Given the description of an element on the screen output the (x, y) to click on. 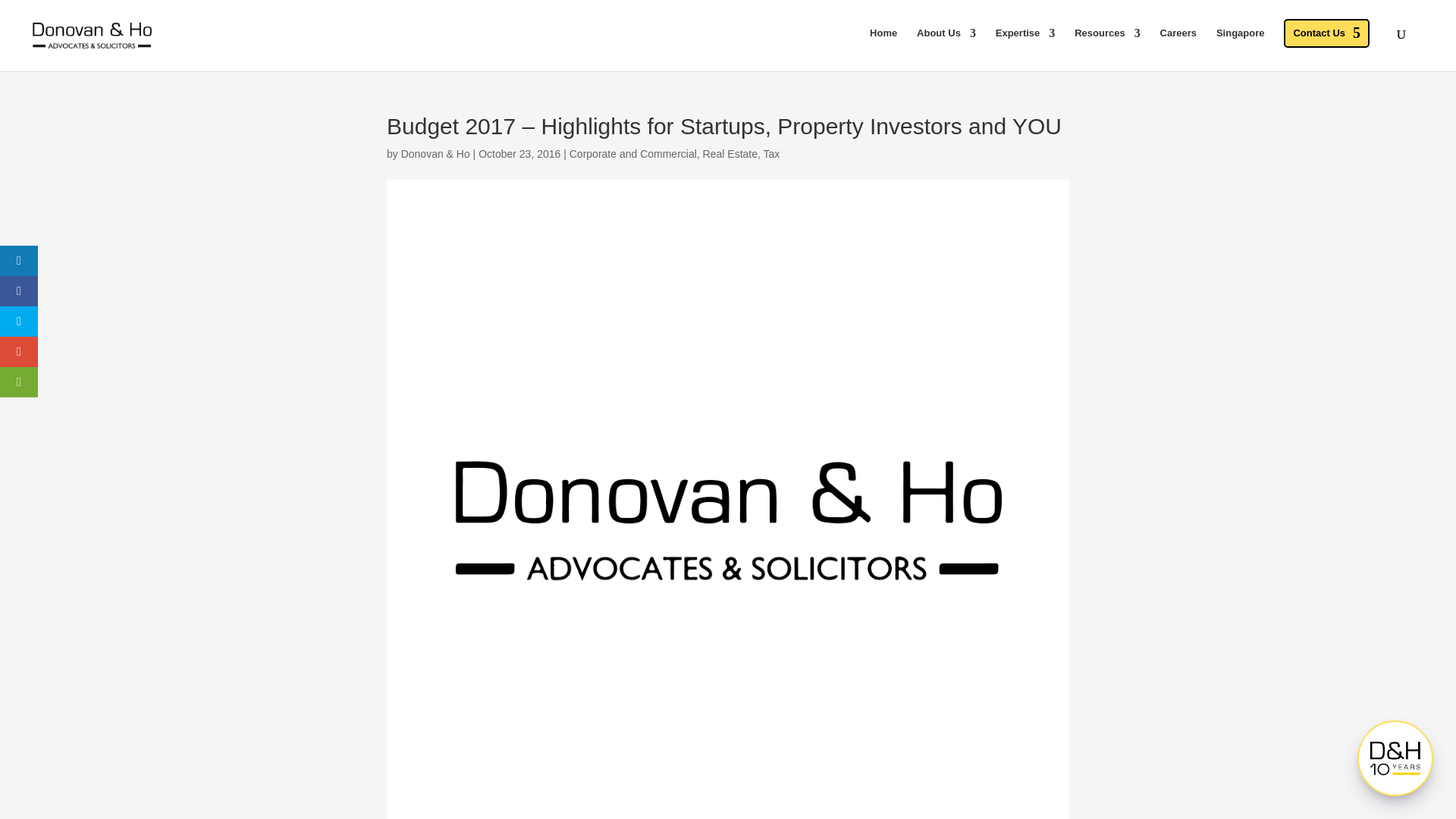
Home (882, 45)
About Us (946, 45)
Corporate and Commercial (633, 153)
Resources (1107, 45)
Real Estate (730, 153)
Singapore (1240, 45)
Careers (1178, 45)
Contact Us (1327, 32)
Tax (771, 153)
Expertise (1025, 45)
